Given the description of an element on the screen output the (x, y) to click on. 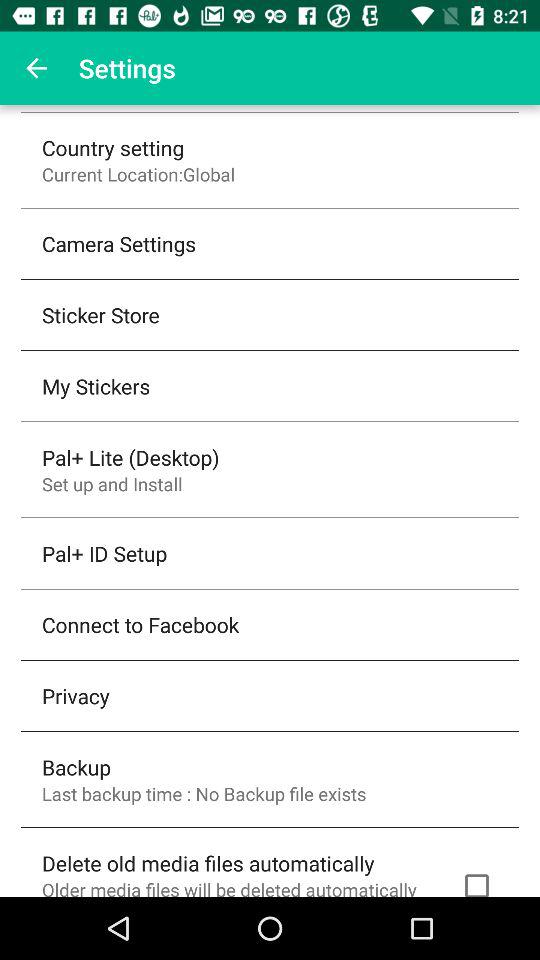
click item below sticker store (96, 385)
